Given the description of an element on the screen output the (x, y) to click on. 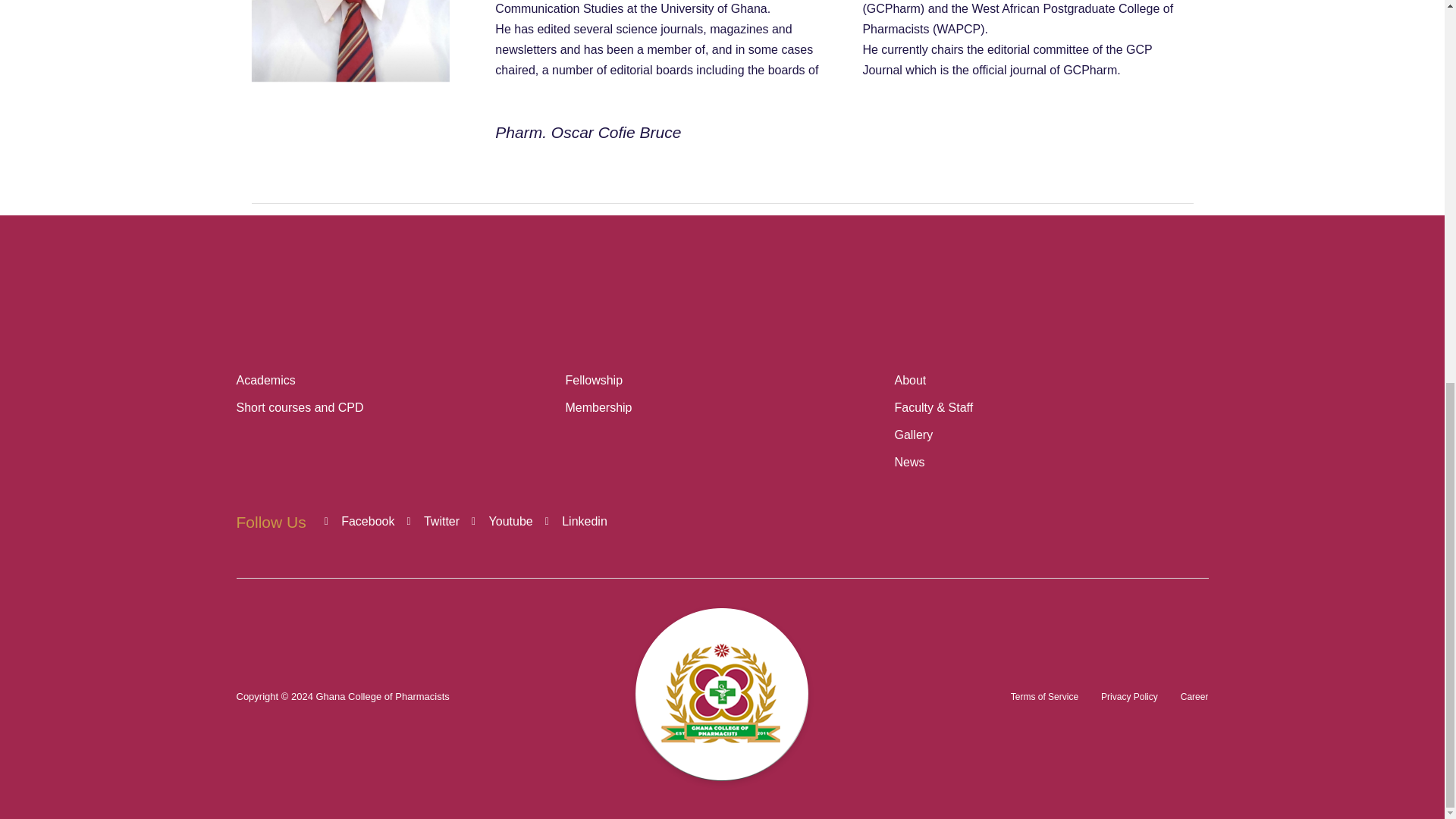
Follow Us (392, 393)
Pharm. Oscar Cofie Bruce (279, 522)
